Given the description of an element on the screen output the (x, y) to click on. 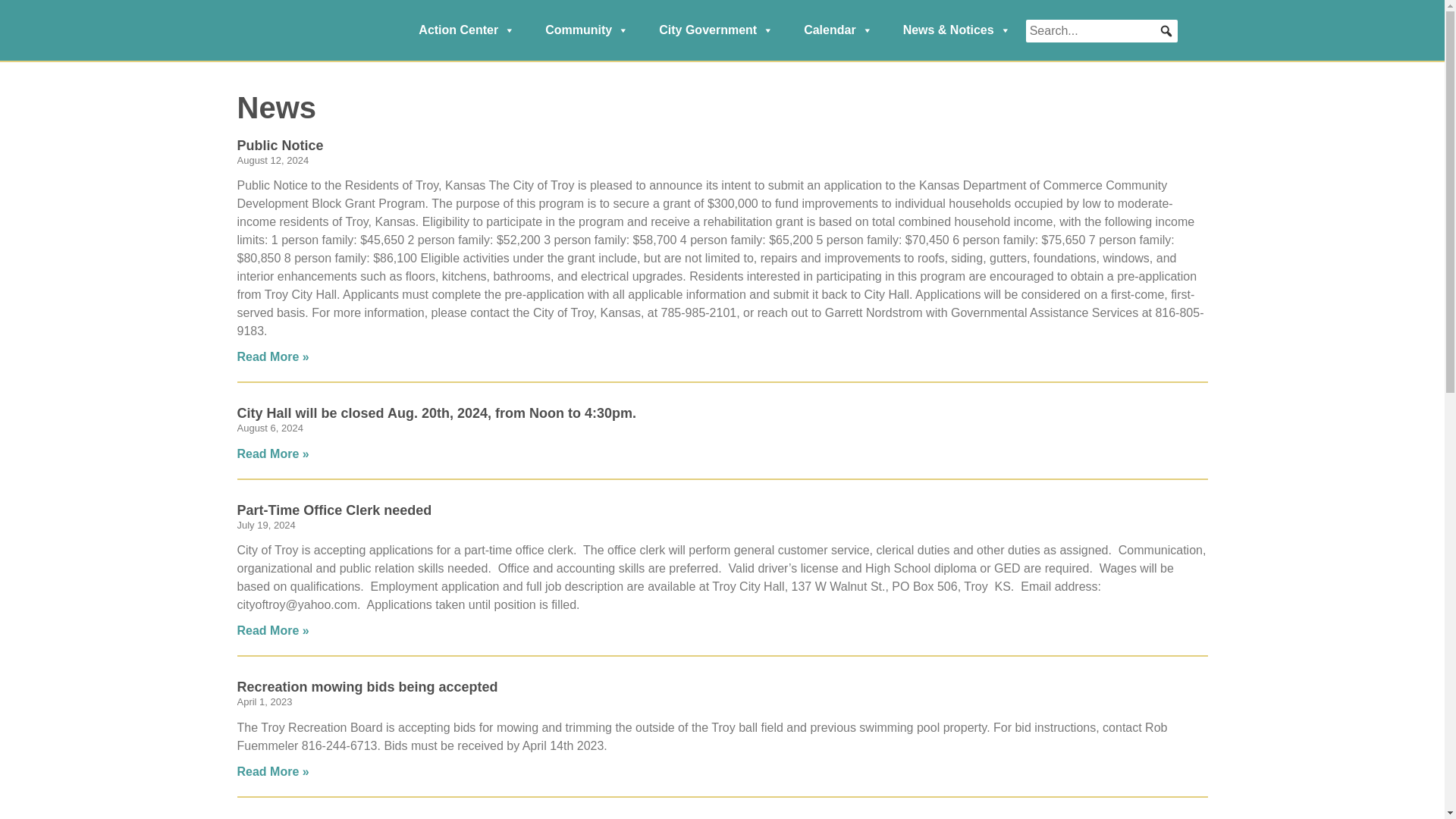
City Government (716, 30)
Community (586, 30)
Action Center (466, 30)
